Given the description of an element on the screen output the (x, y) to click on. 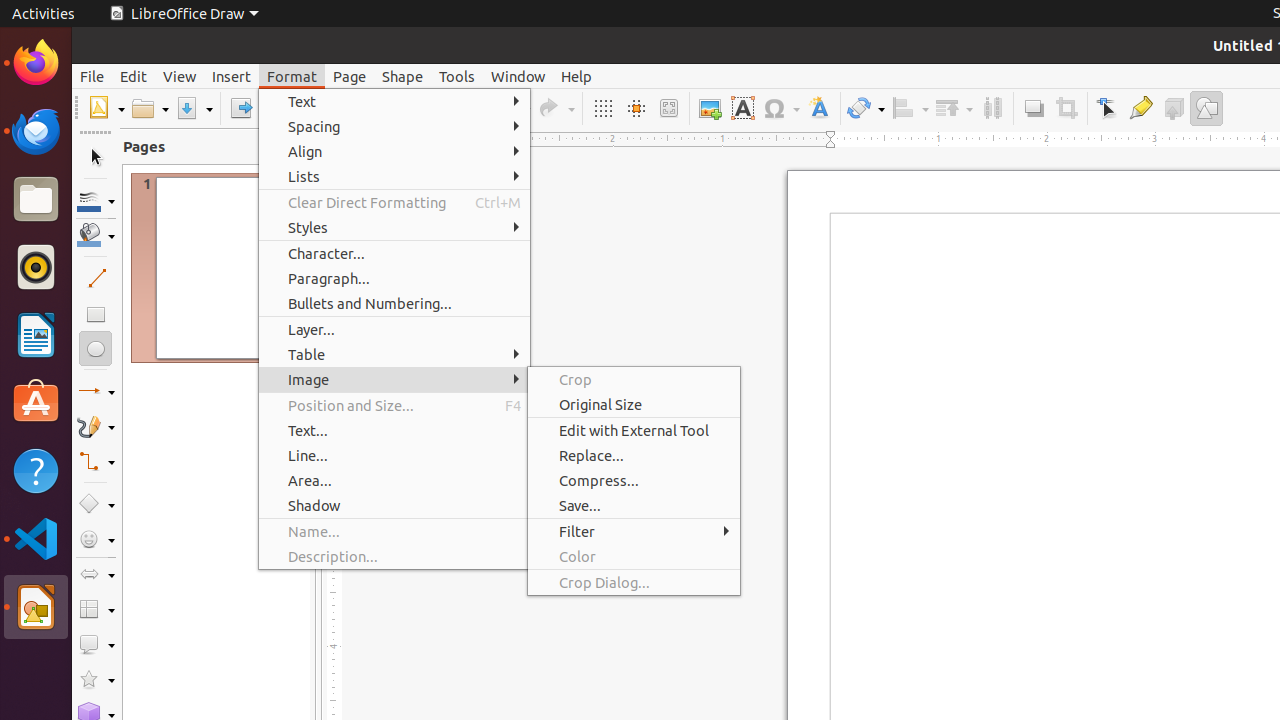
Lists Element type: menu (394, 176)
Glue Points Element type: push-button (1140, 108)
File Element type: menu (92, 76)
Shadow Element type: toggle-button (1033, 108)
Export Element type: push-button (240, 108)
